Given the description of an element on the screen output the (x, y) to click on. 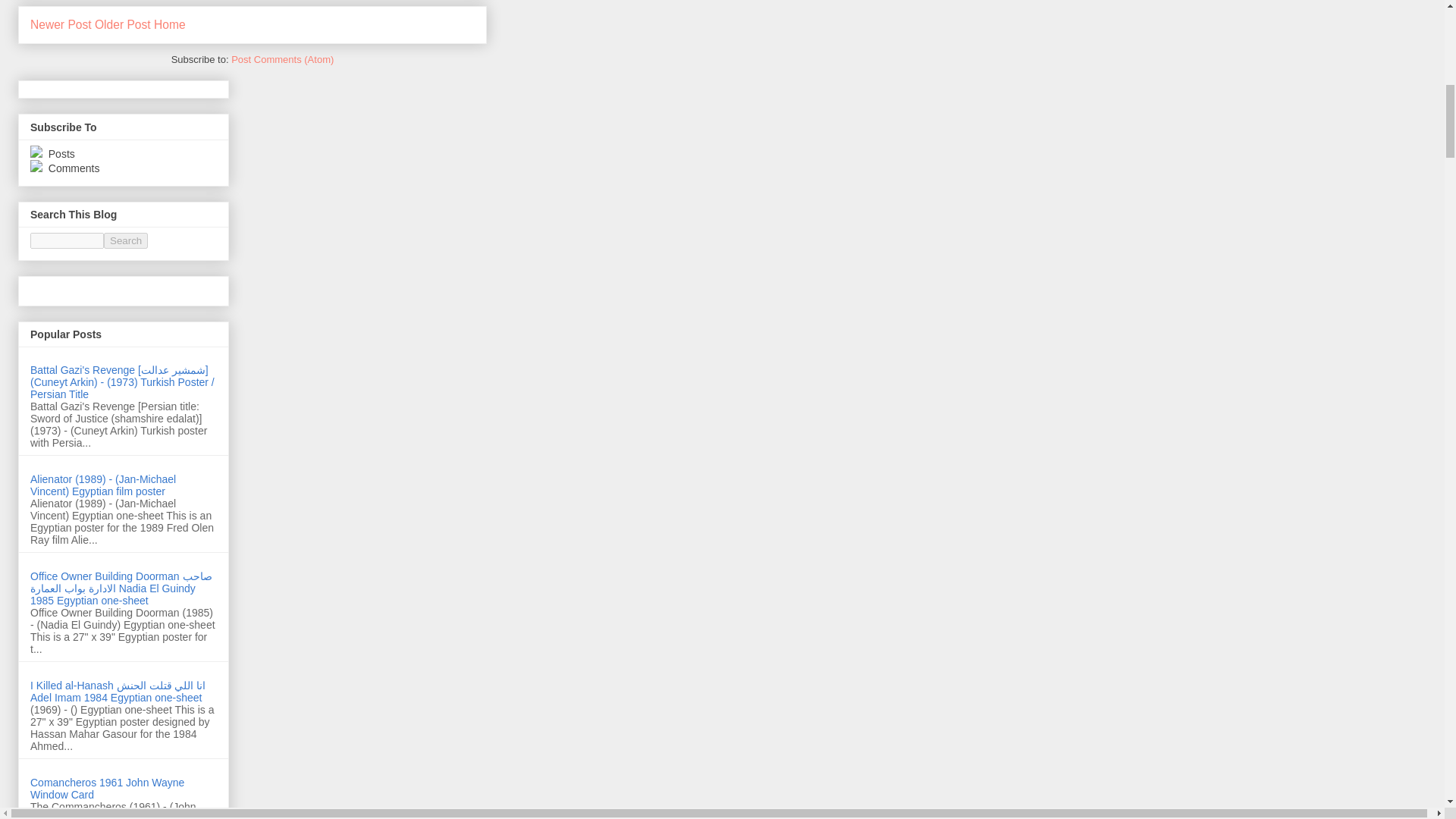
Search (125, 240)
Newer Post (60, 24)
Newer Post (60, 24)
Search (125, 240)
Home (170, 24)
search (66, 240)
Search (125, 240)
Older Post (122, 24)
Older Post (122, 24)
search (125, 240)
